Given the description of an element on the screen output the (x, y) to click on. 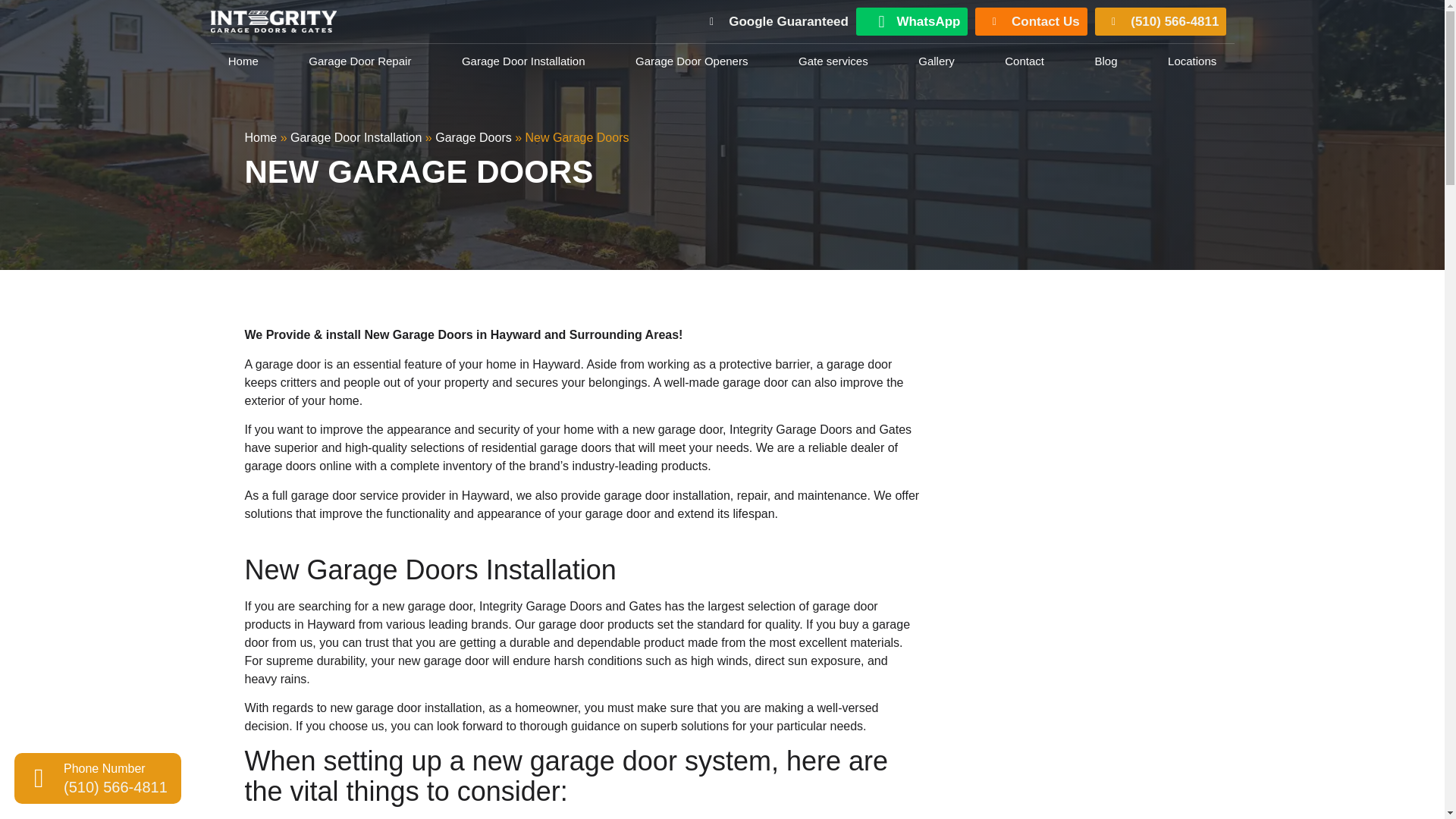
Contact Us (1030, 21)
Home (243, 61)
Garage Door Installation (523, 61)
Garage Door Repair (360, 61)
WhatsApp (911, 21)
